Given the description of an element on the screen output the (x, y) to click on. 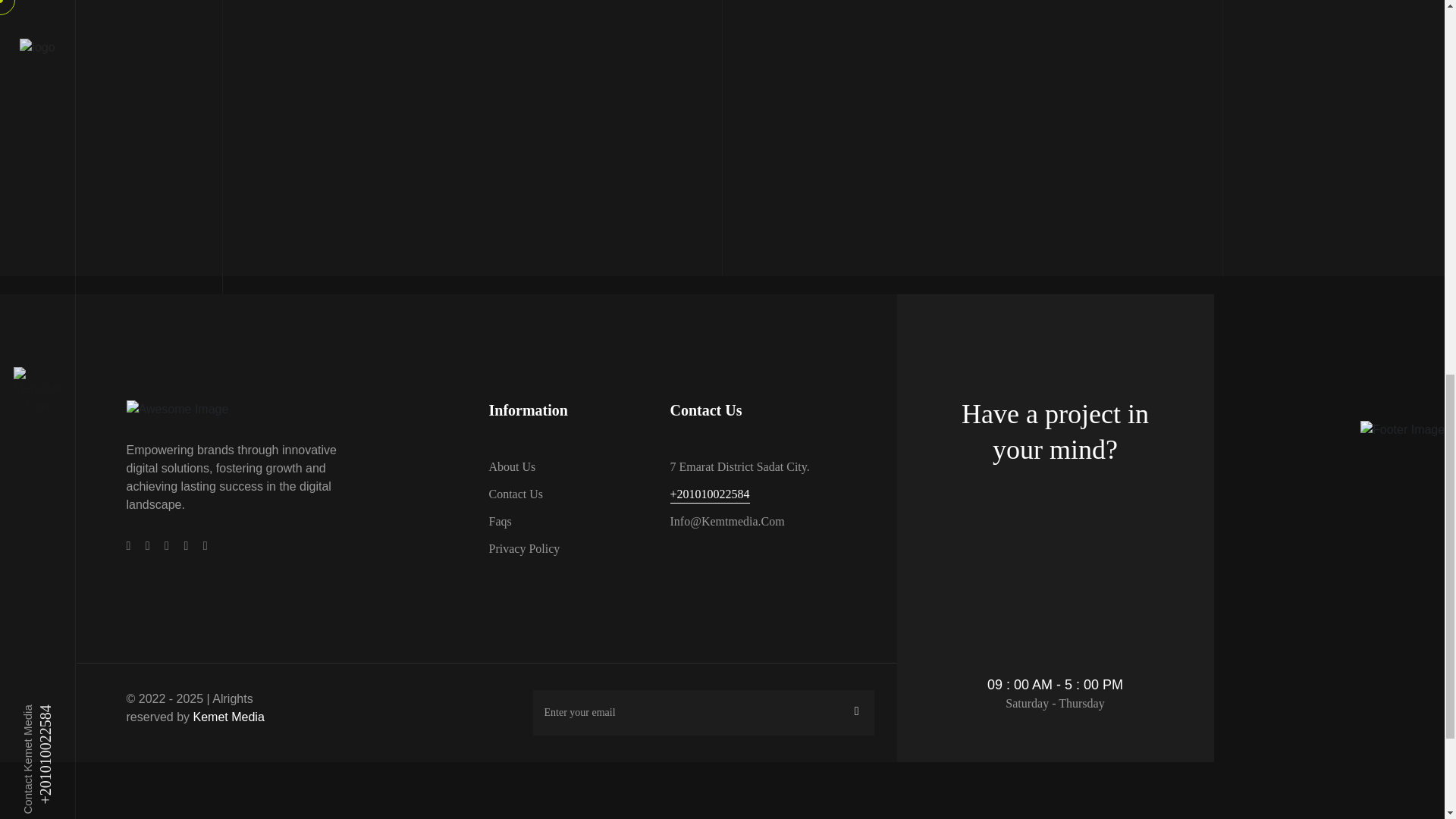
Kemet Media (228, 716)
About Us (511, 466)
Privacy Policy (523, 548)
Faqs (499, 521)
Contact Us (515, 494)
